Given the description of an element on the screen output the (x, y) to click on. 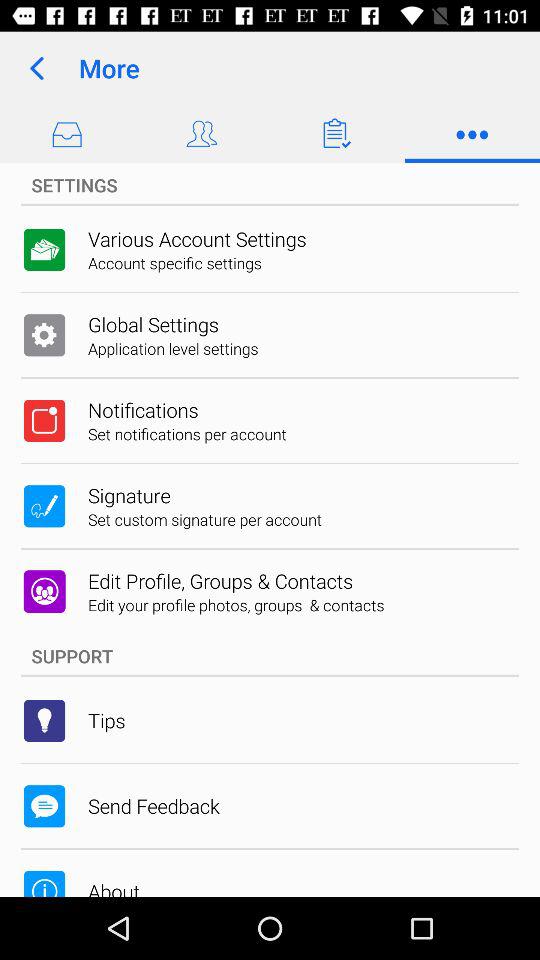
jump until the application level settings item (173, 348)
